Given the description of an element on the screen output the (x, y) to click on. 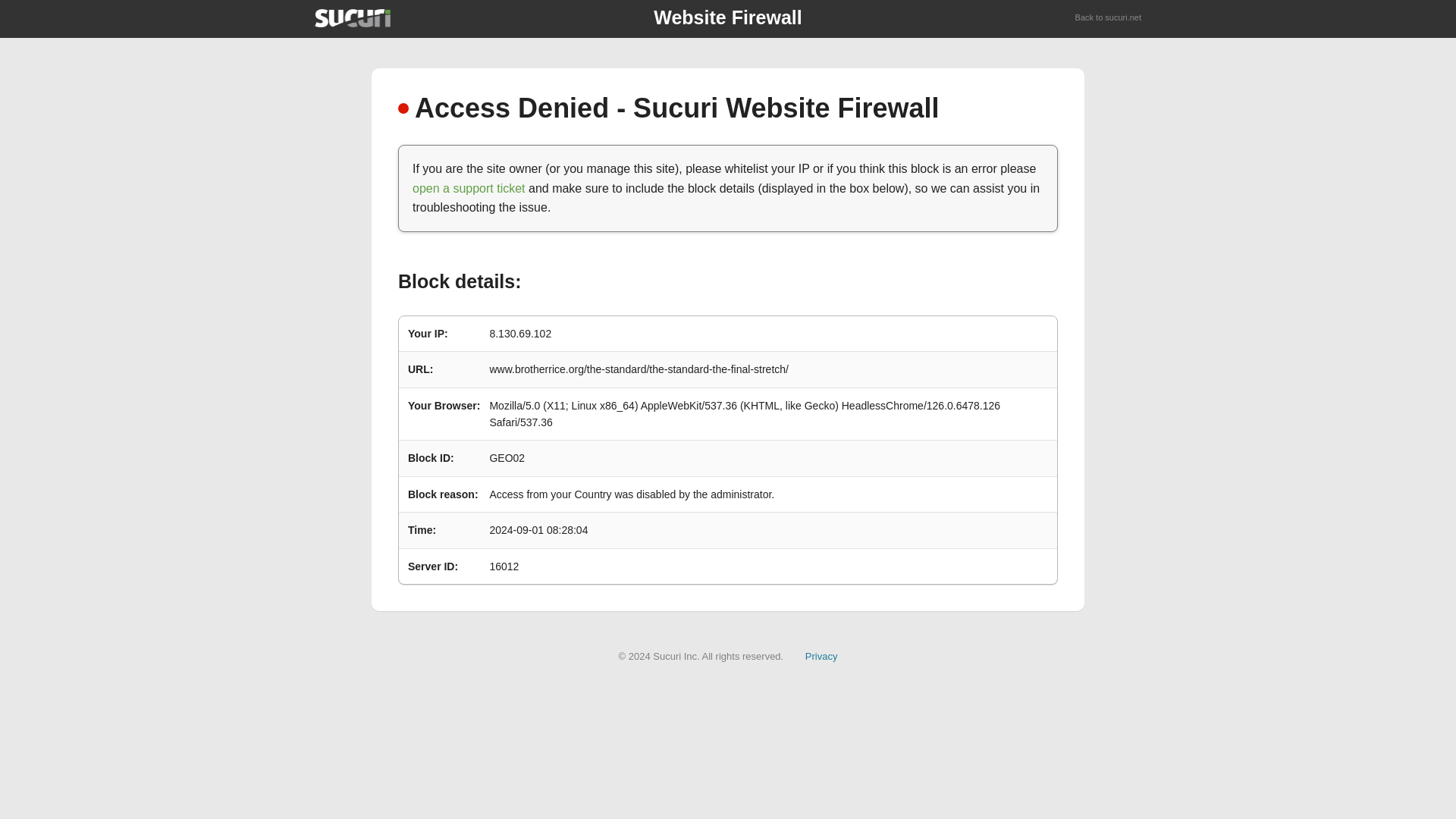
Privacy (821, 655)
open a support ticket (468, 187)
Back to sucuri.net (1108, 18)
